Given the description of an element on the screen output the (x, y) to click on. 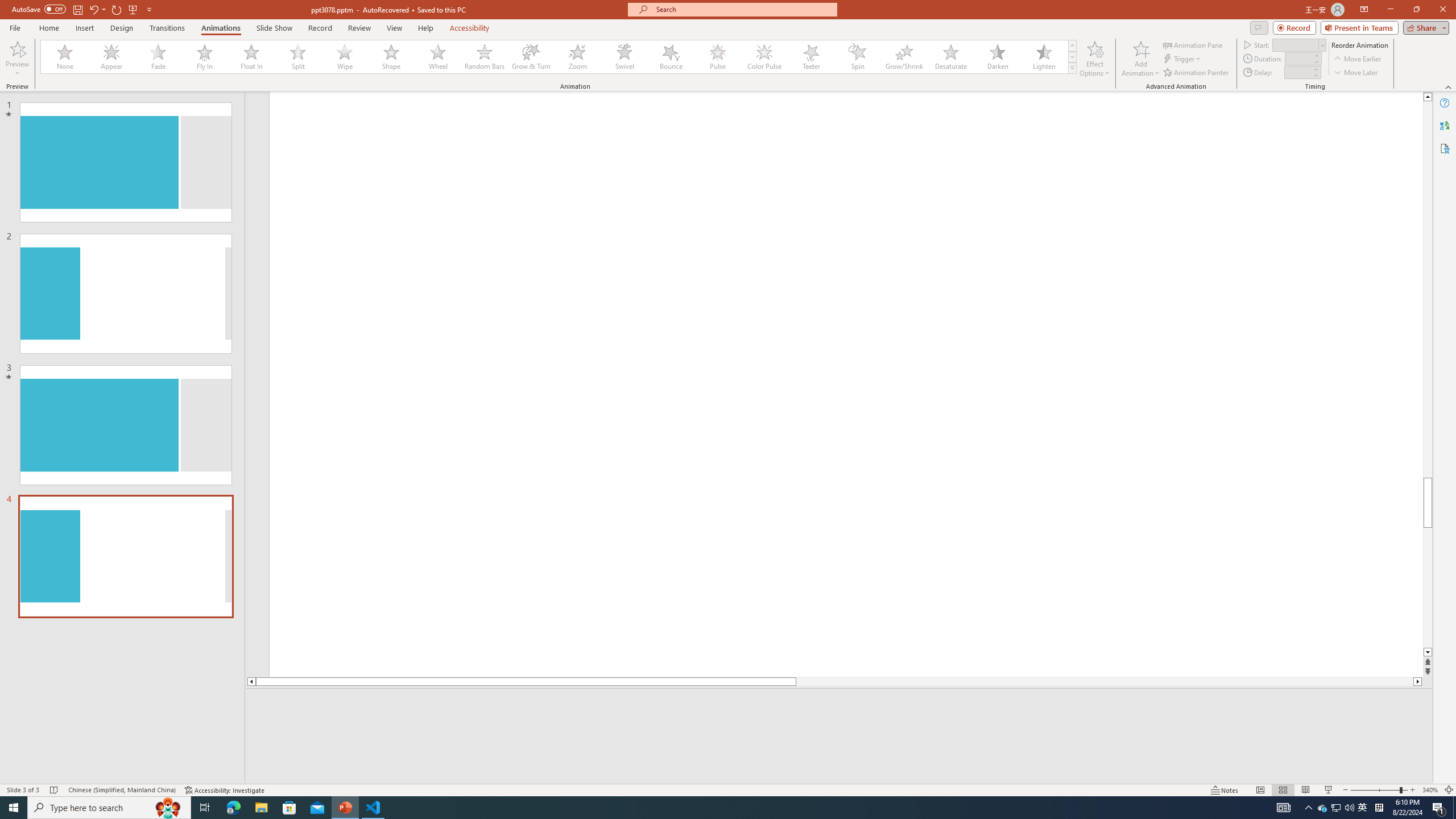
Slide Notes (839, 705)
Teeter (810, 56)
Move Earlier (1357, 58)
Float In (251, 56)
Wheel (437, 56)
